Given the description of an element on the screen output the (x, y) to click on. 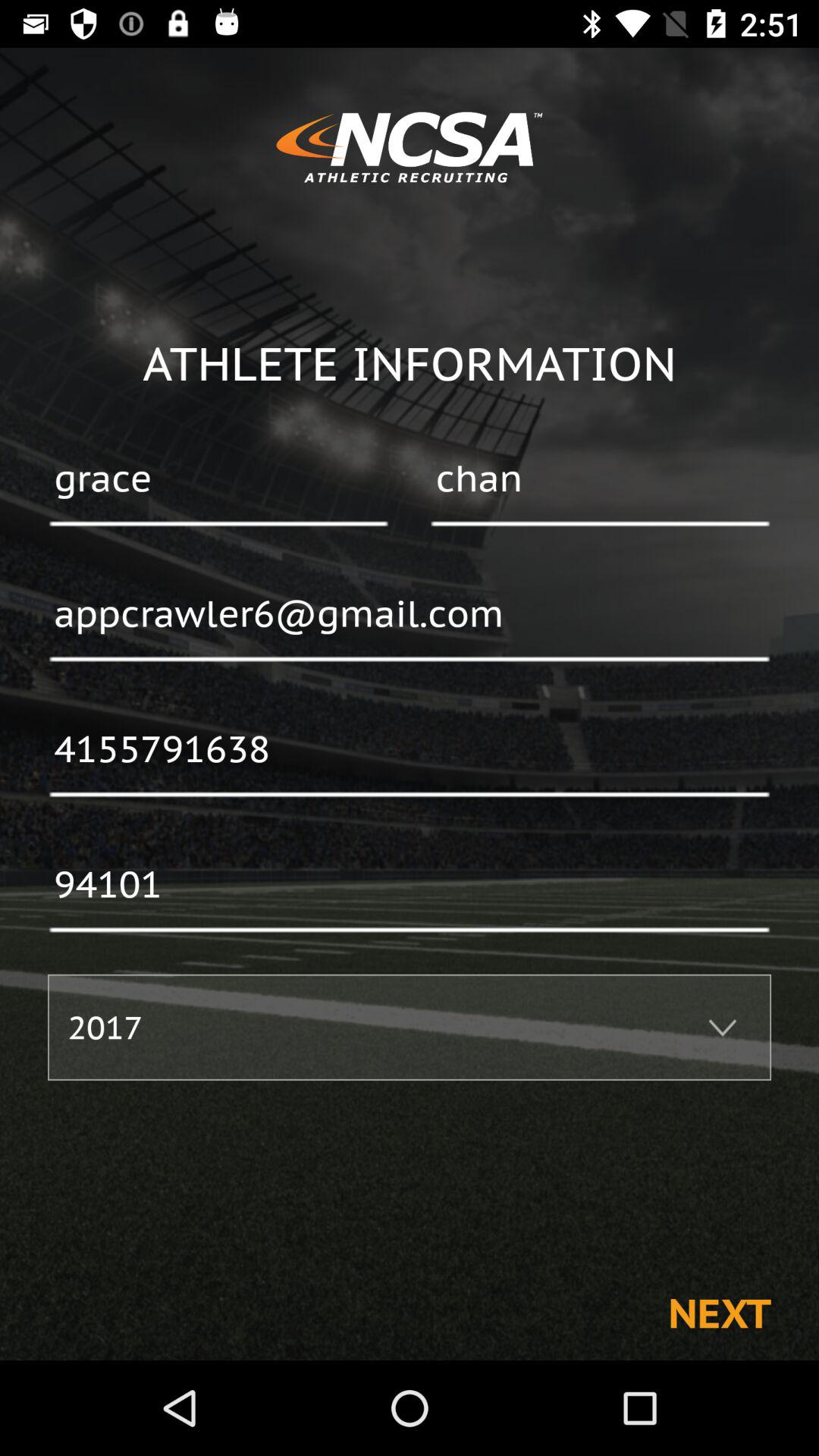
press item to the left of the chan (218, 479)
